Given the description of an element on the screen output the (x, y) to click on. 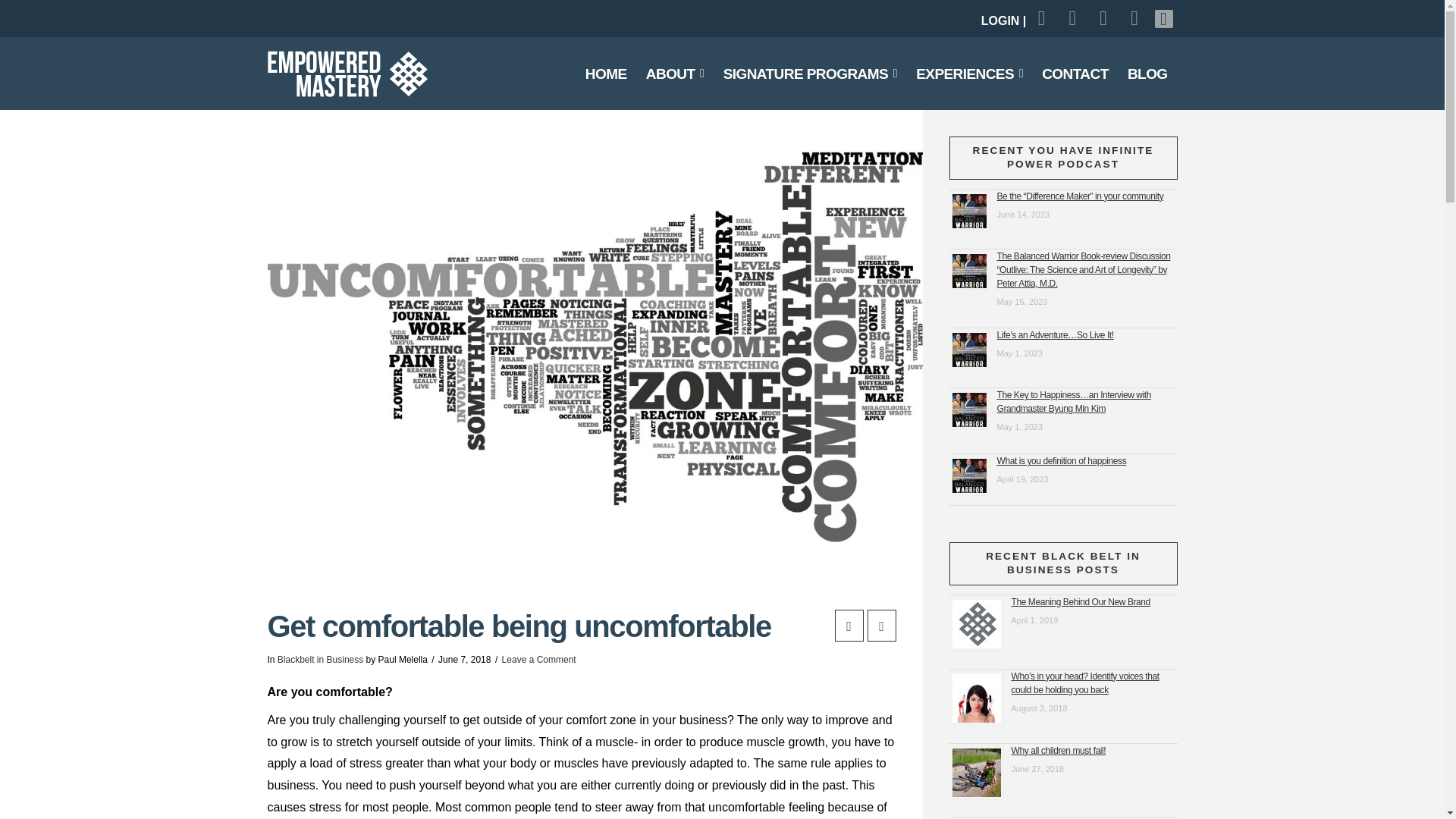
Permalink to Why all children must fail! (1058, 750)
Permalink to What is you definition of happiness (1060, 460)
LOGIN (1000, 20)
CONTACT (1075, 72)
HOME (605, 72)
SIGNATURE PROGRAMS (810, 72)
BLOG (1147, 72)
EXPERIENCES (969, 72)
ABOUT (674, 72)
Permalink to The Meaning Behind Our New Brand (1080, 601)
Blackbelt in Business (320, 659)
Leave a Comment (539, 659)
